Given the description of an element on the screen output the (x, y) to click on. 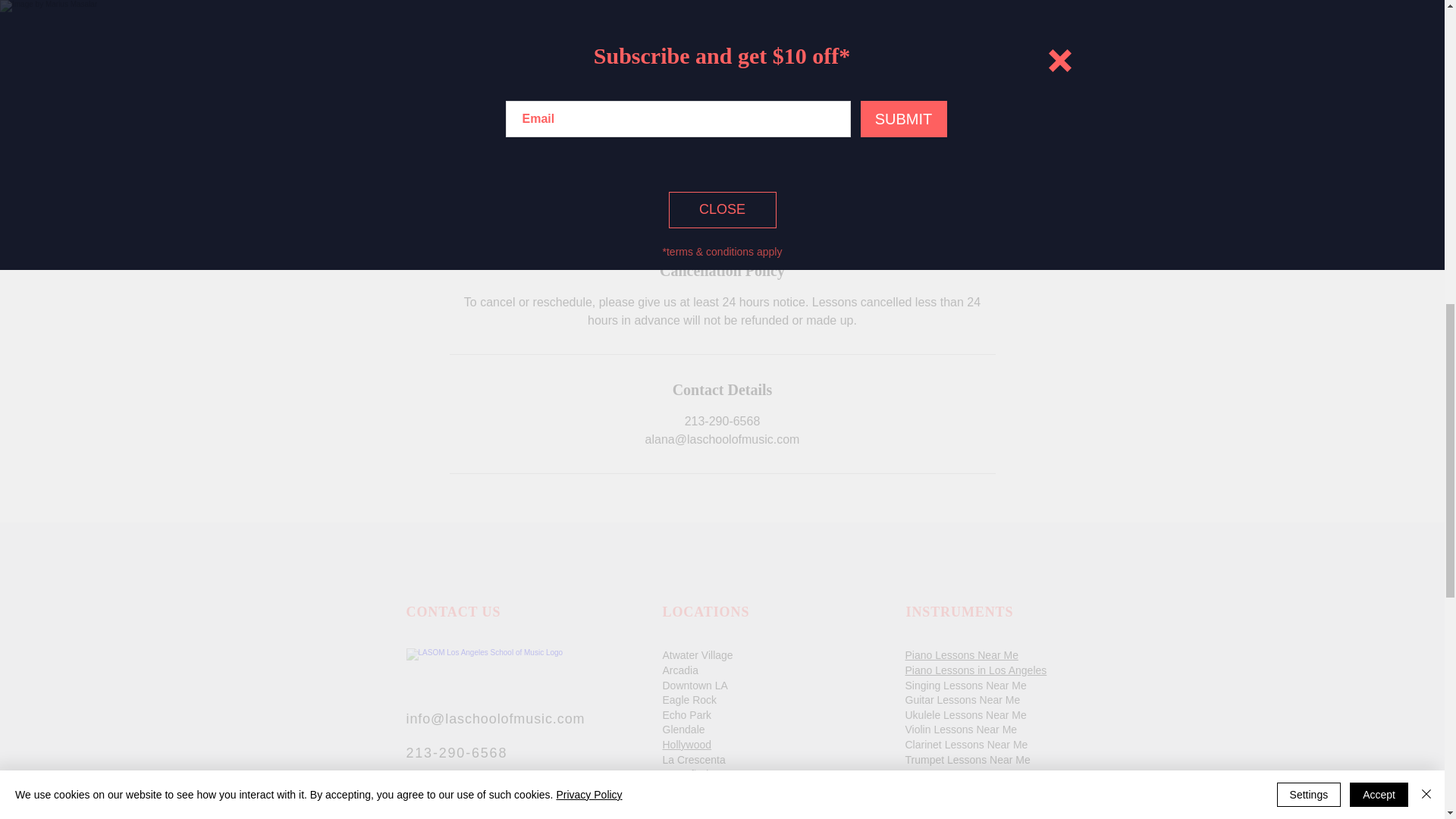
213-290-6568 (457, 752)
Piano Lessons in Los Angeles (975, 670)
Hollywood (686, 744)
Piano Lessons Near Me (961, 654)
